Given the description of an element on the screen output the (x, y) to click on. 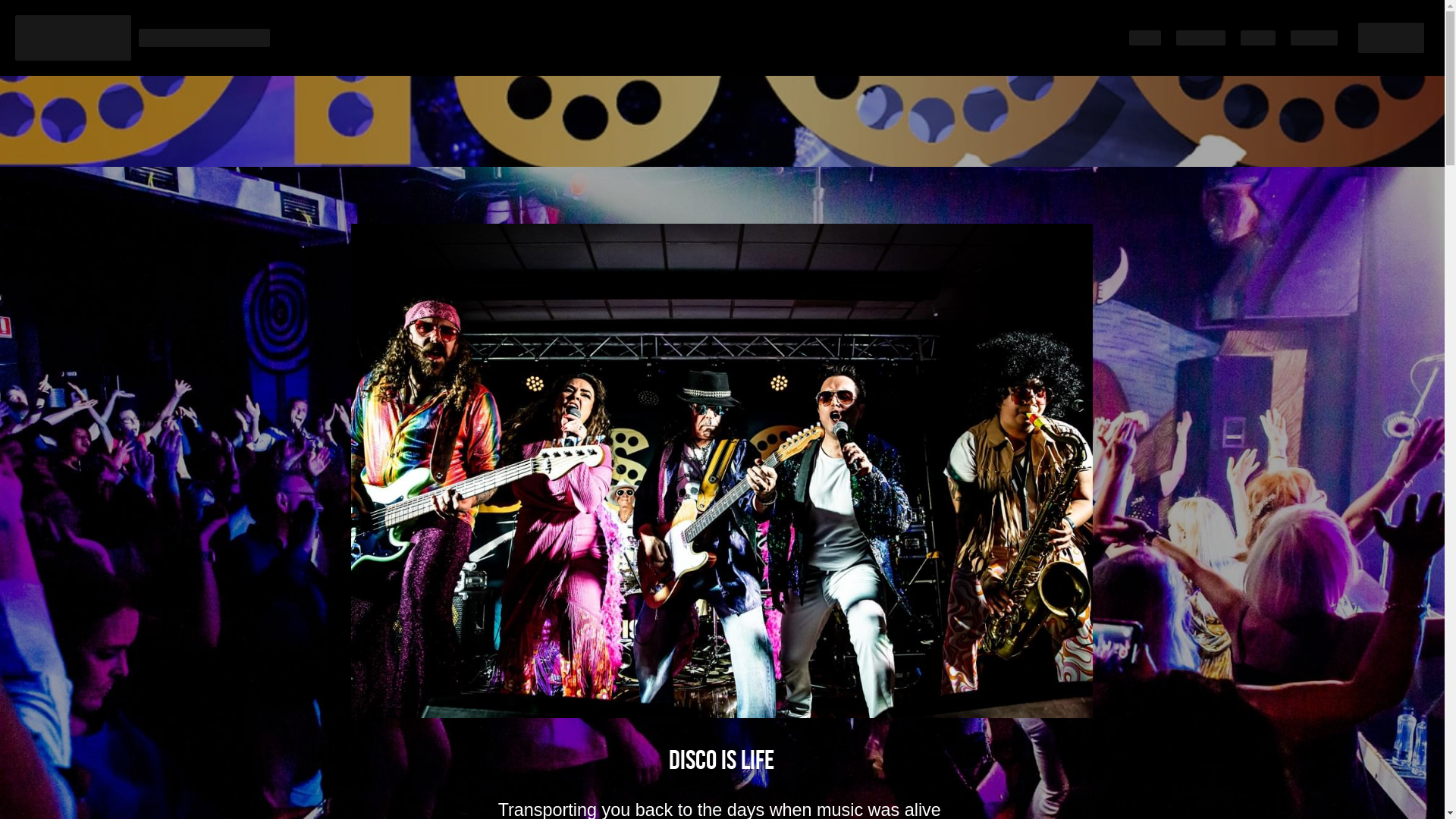
HOME Element type: text (1145, 37)
GALLERY Element type: text (1313, 37)
CONTACT Element type: text (1200, 37)
MEDIA Element type: text (1257, 37)
